Given the description of an element on the screen output the (x, y) to click on. 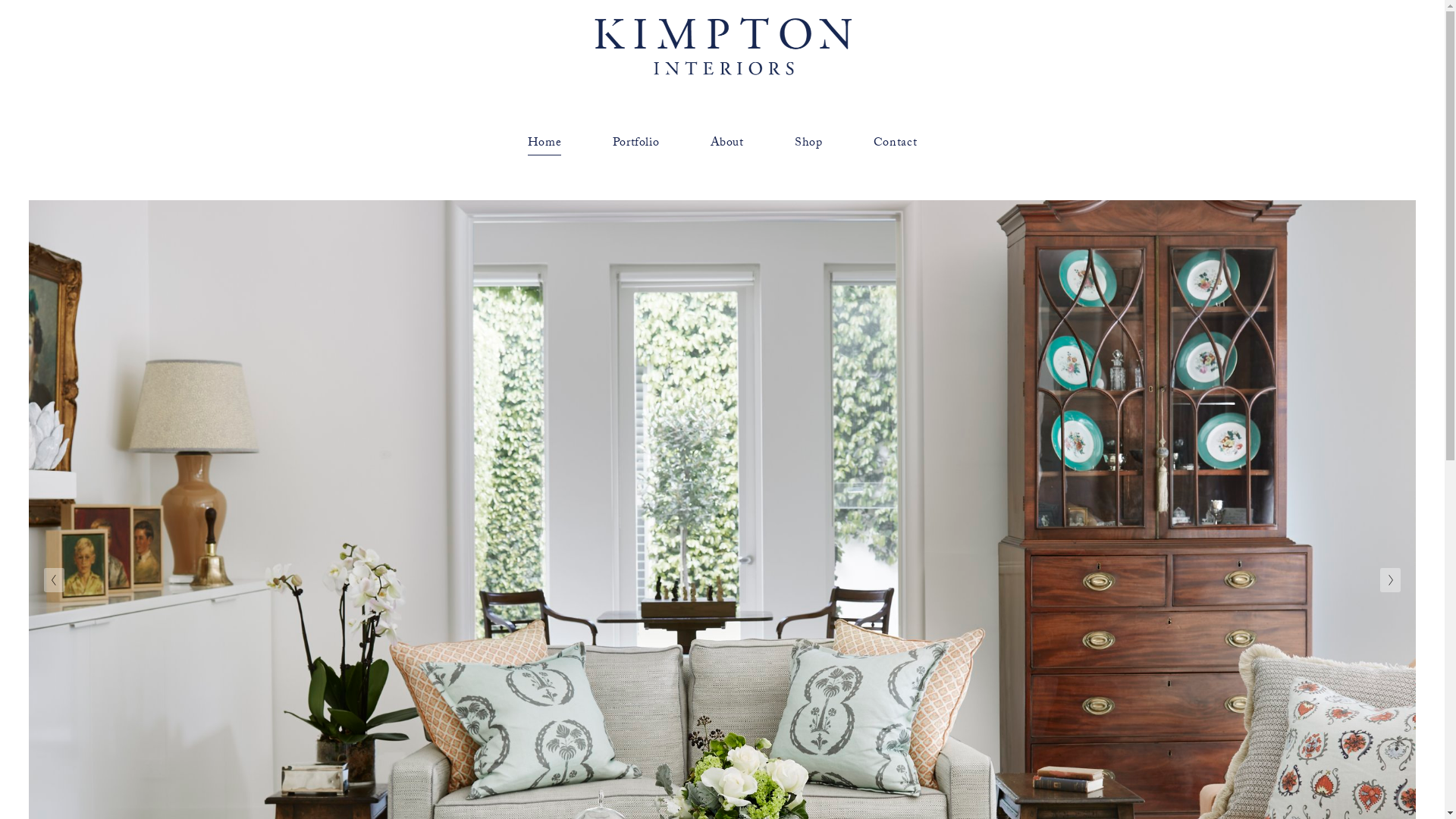
Portfolio Element type: text (635, 143)
Contact Element type: text (894, 143)
About Element type: text (726, 143)
Home Element type: text (544, 143)
Shop Element type: text (808, 143)
